Given the description of an element on the screen output the (x, y) to click on. 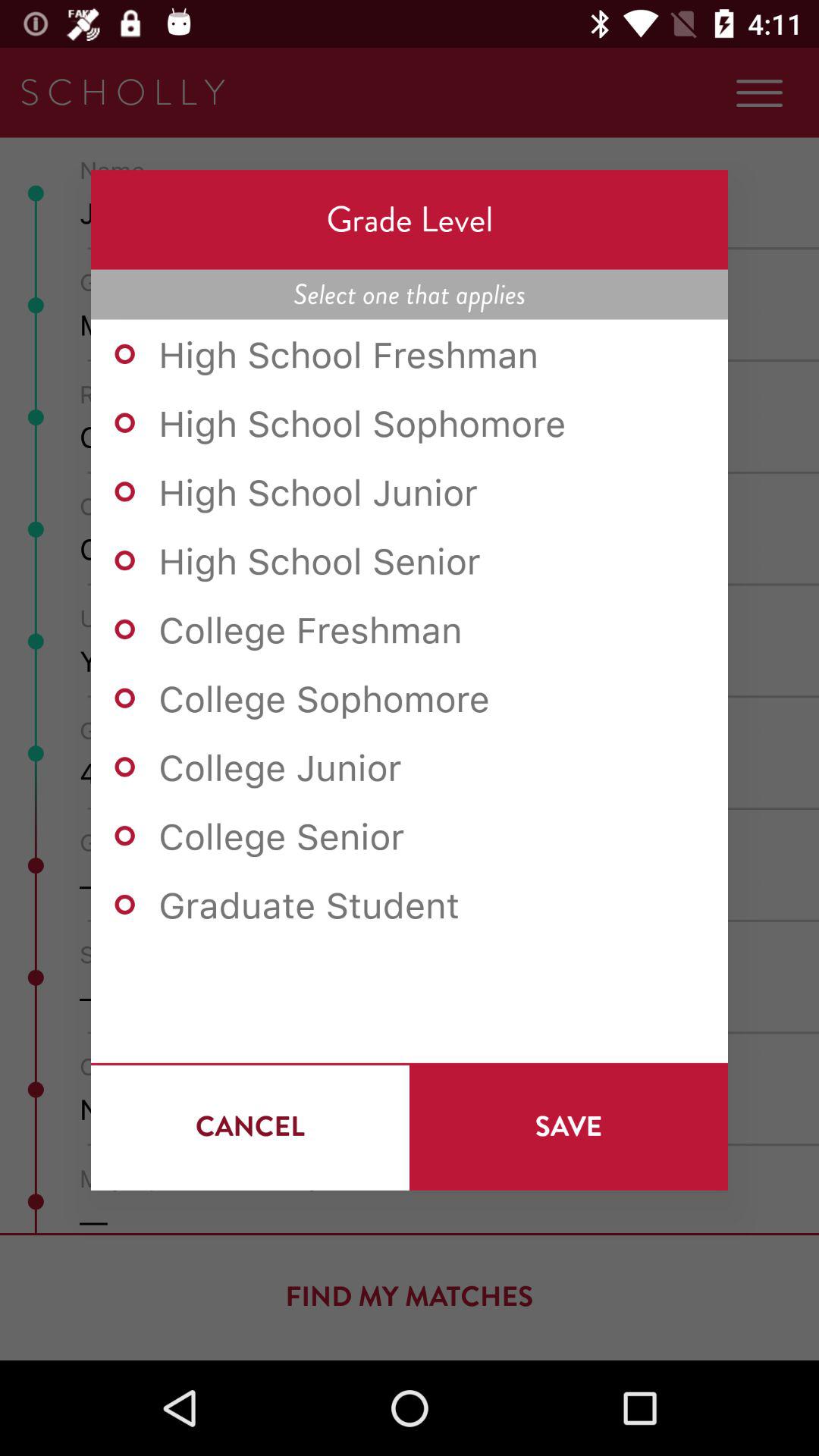
tap icon below the graduate student icon (250, 1126)
